Given the description of an element on the screen output the (x, y) to click on. 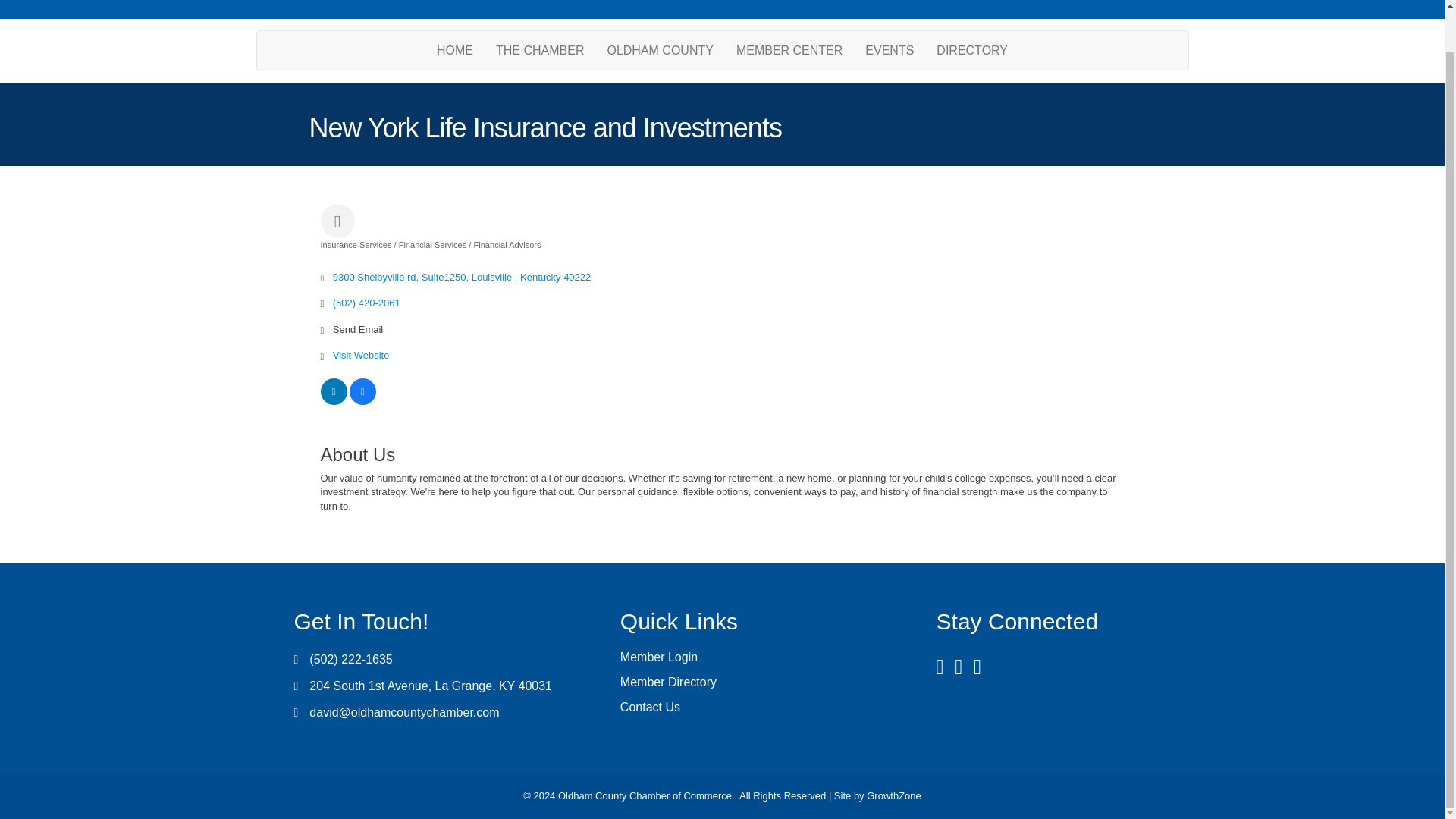
HOME (454, 50)
THE CHAMBER (539, 50)
View on LinkedIn (333, 401)
Economic Development (765, 2)
View on Facebook (362, 401)
